Given the description of an element on the screen output the (x, y) to click on. 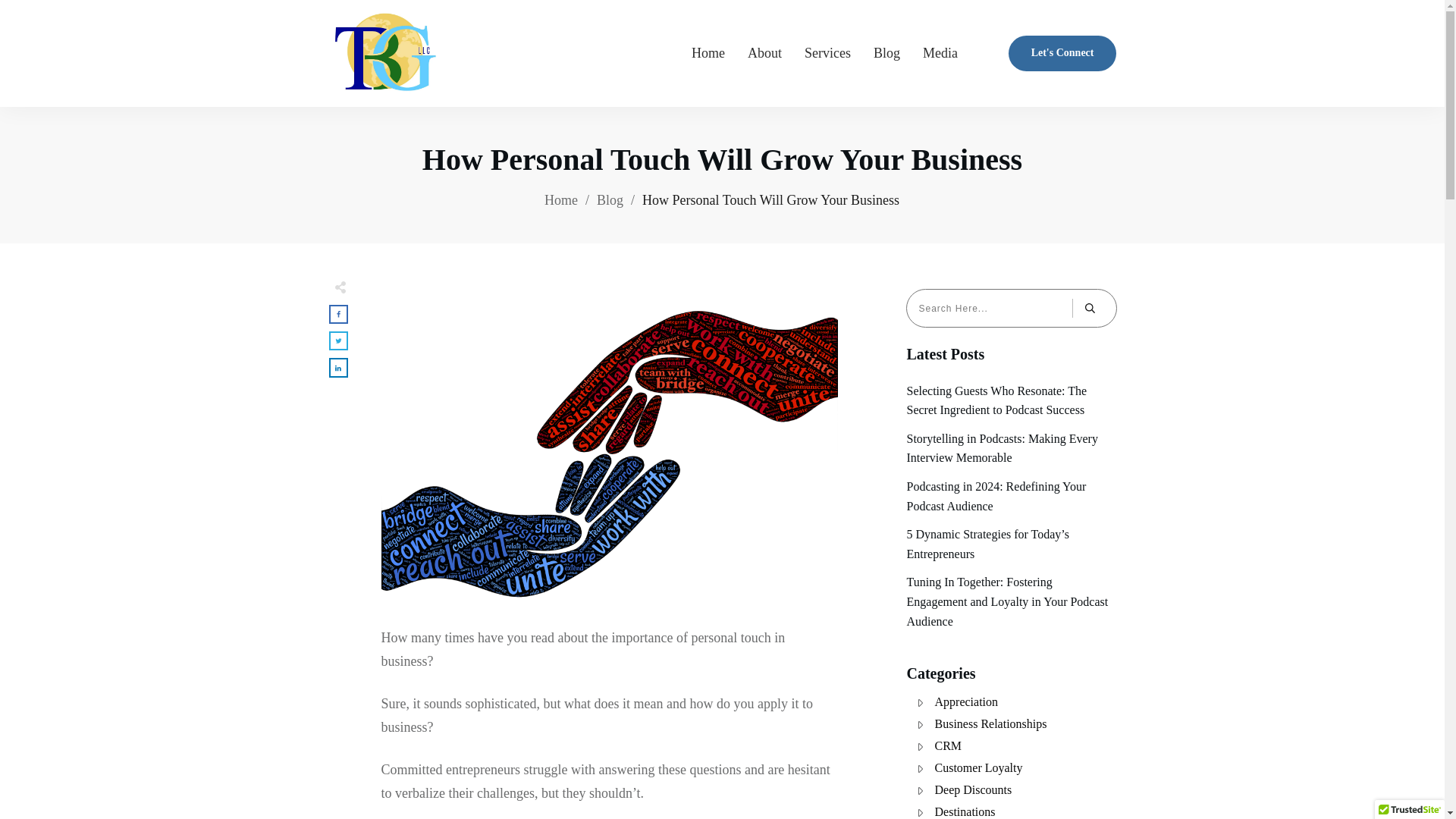
How Personal Touch Will Grow Your Business (722, 159)
Let's Connect (1062, 53)
Home (708, 52)
How Personal Touch Will Grow Your Business (722, 159)
Storytelling in Podcasts: Making Every Interview Memorable (1002, 448)
Services (827, 52)
Podcasting in 2024: Redefining Your Podcast Audience (996, 495)
Home (561, 199)
About (764, 52)
Media (940, 52)
Blog (886, 52)
Blog (609, 199)
